Given the description of an element on the screen output the (x, y) to click on. 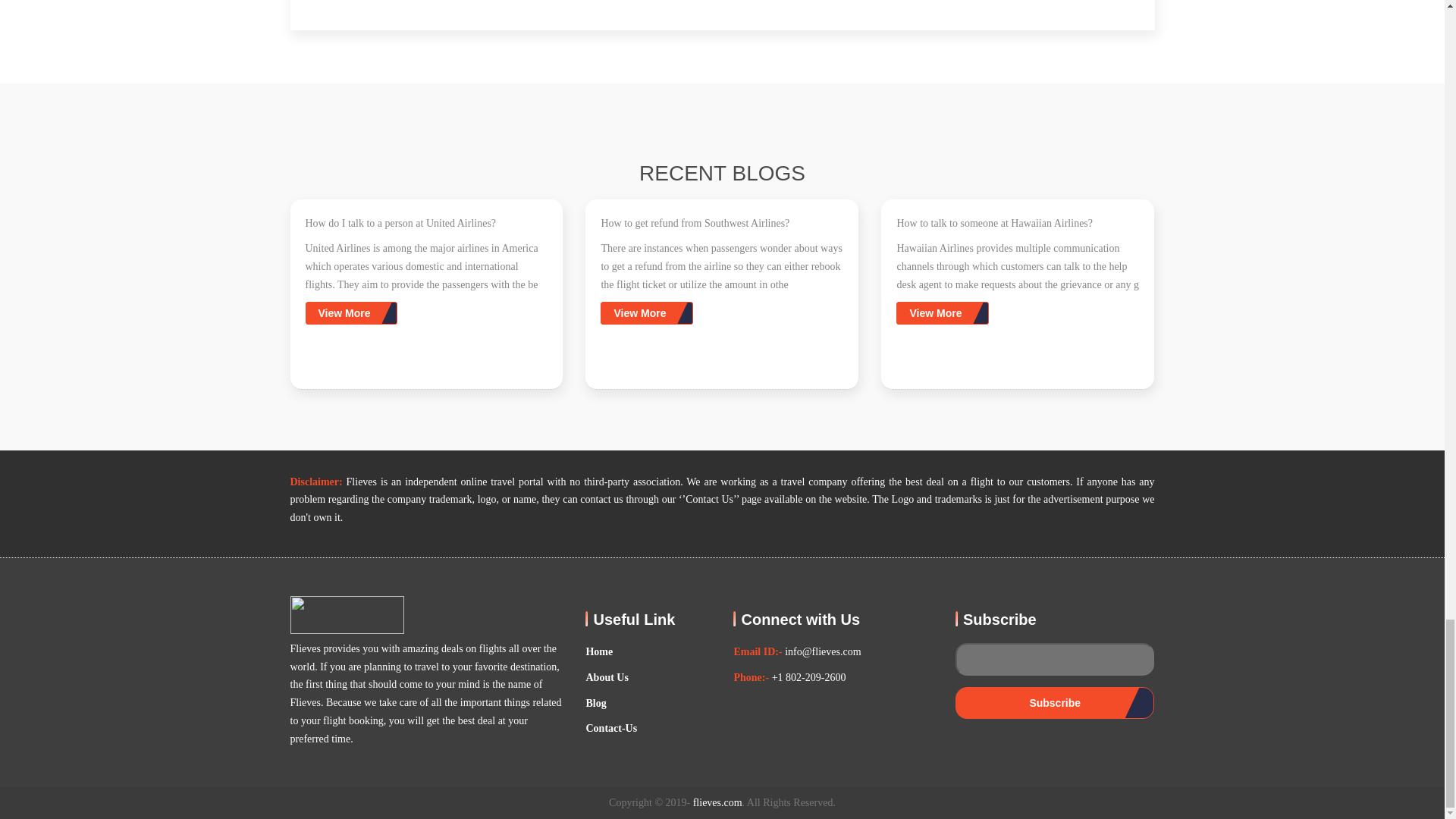
flieves.com (717, 802)
View More (350, 313)
Home (598, 651)
View More (646, 313)
Subscribe (1054, 703)
View More (942, 313)
View More (350, 313)
View More (646, 313)
Contact-Us (611, 728)
View More (942, 313)
Blog (595, 703)
About Us (606, 678)
